Given the description of an element on the screen output the (x, y) to click on. 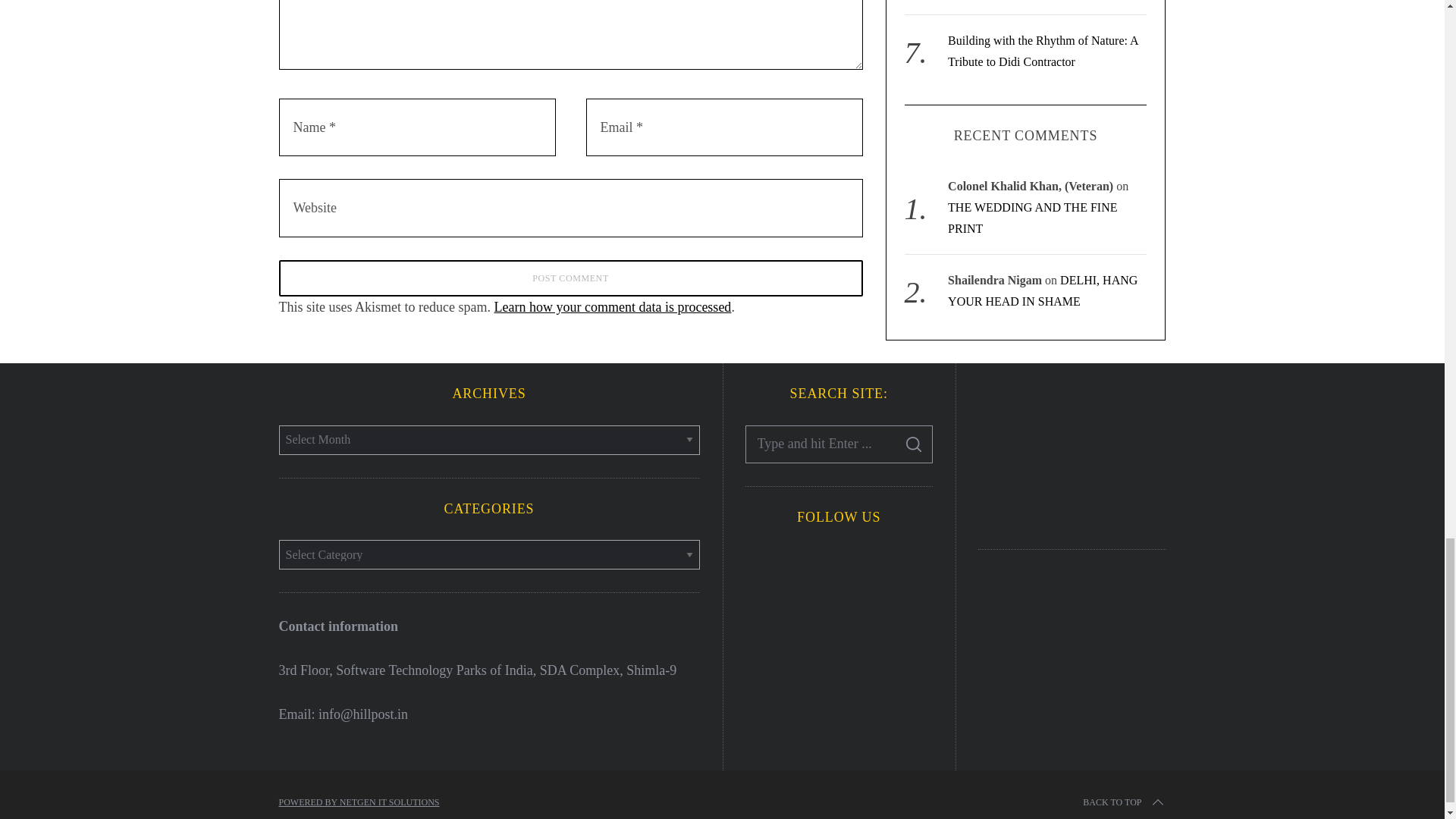
SEARCH (914, 444)
Post Comment (571, 278)
Post Comment (571, 278)
Learn how your comment data is processed (611, 306)
PepupHome Best Home improvement blog 2020 (1072, 452)
